Given the description of an element on the screen output the (x, y) to click on. 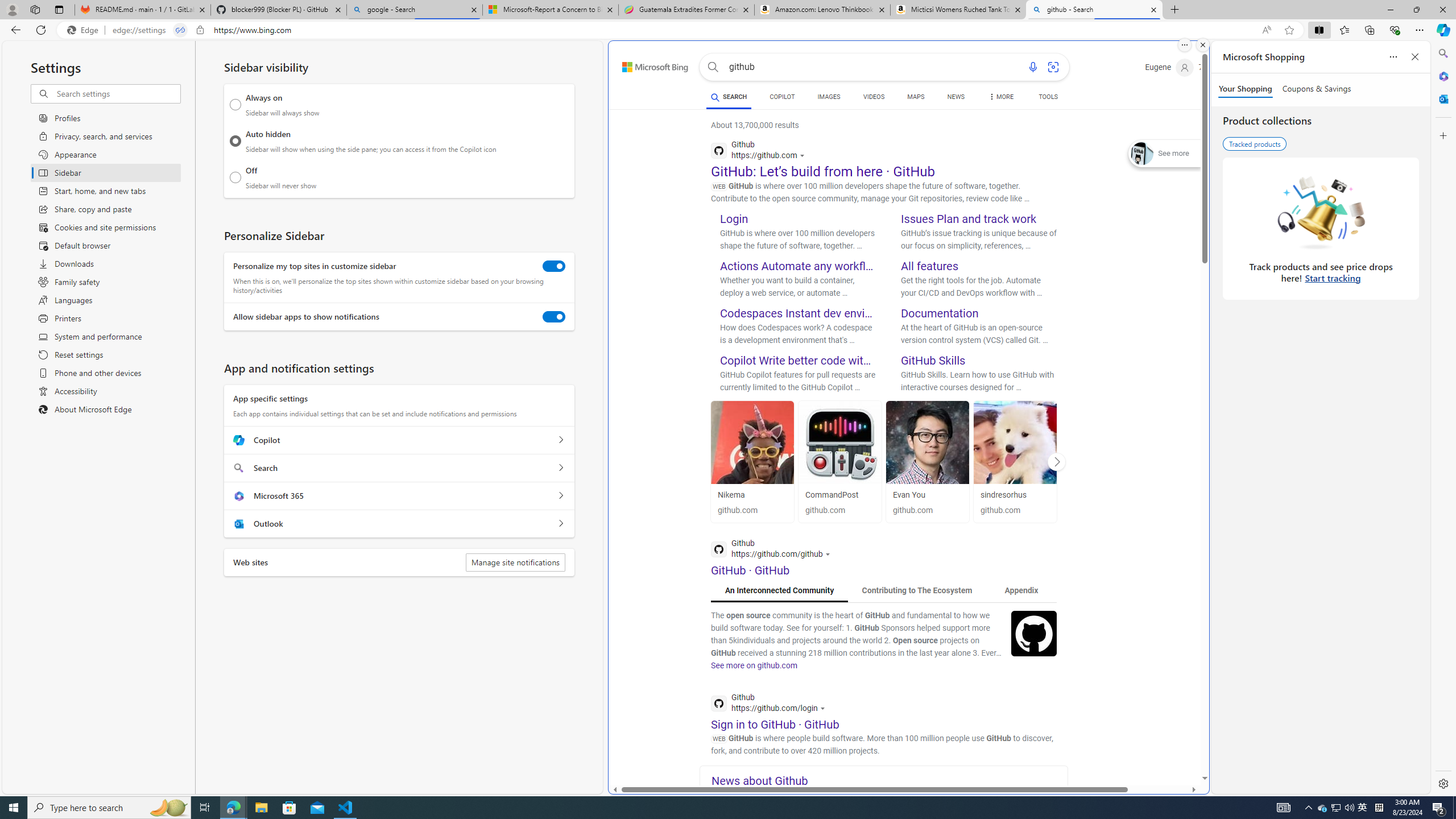
More options. (1183, 45)
Image (1034, 633)
Appendix (1021, 590)
github.com (1014, 511)
Edge (84, 29)
Tabs in split screen (180, 29)
sindresorhus sindresorhus github.com (1015, 461)
MAPS (915, 96)
Search button (713, 66)
sindresorhus (1002, 494)
github - Search (1094, 9)
